Given the description of an element on the screen output the (x, y) to click on. 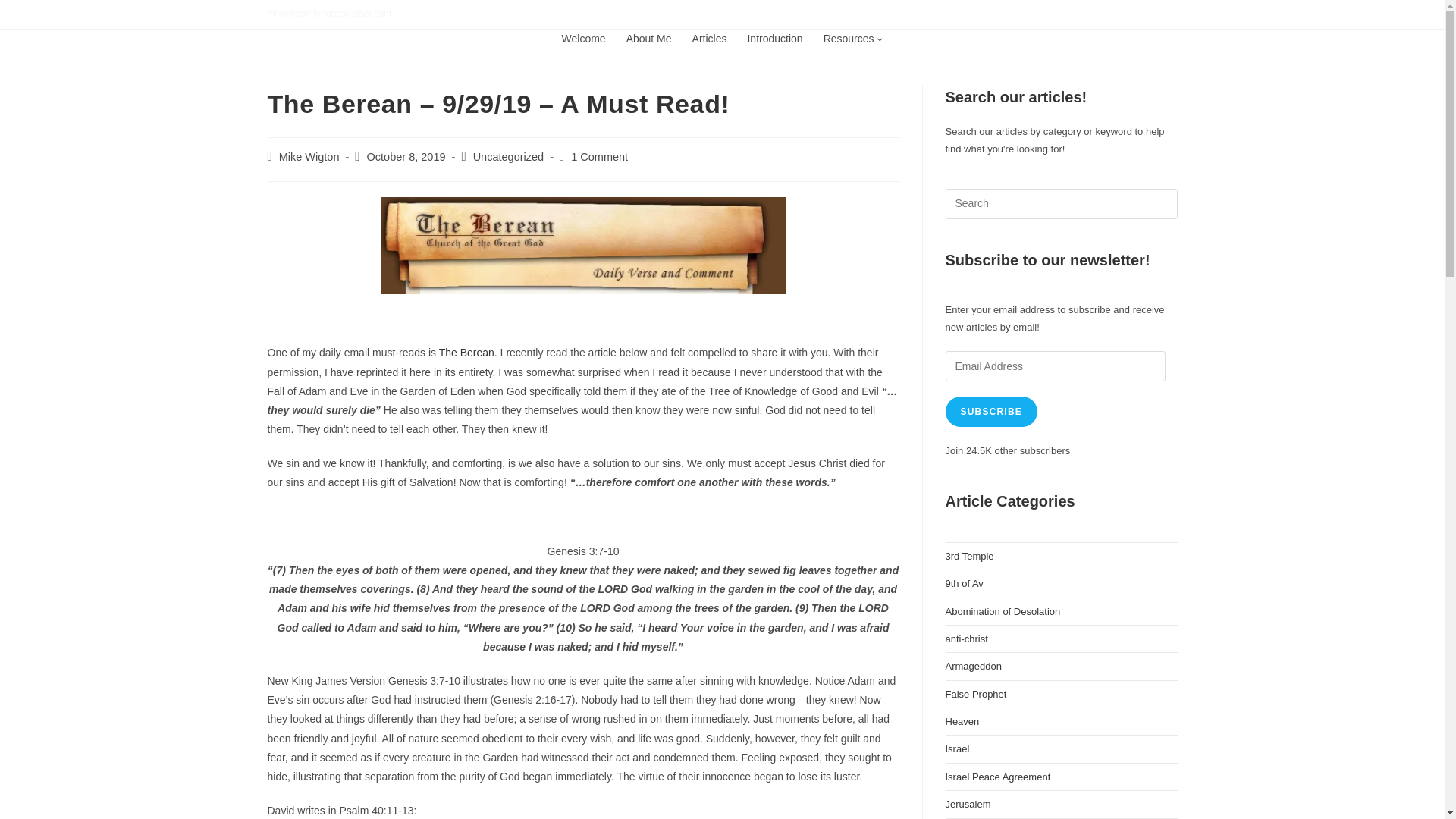
Mike Wigton (309, 156)
Articles (709, 38)
Posts by Mike Wigton (309, 156)
Welcome (583, 38)
About Me (648, 38)
Uncategorized (508, 156)
Resources (849, 38)
The Berean (467, 352)
Introduction (774, 38)
1 Comment (598, 156)
